Given the description of an element on the screen output the (x, y) to click on. 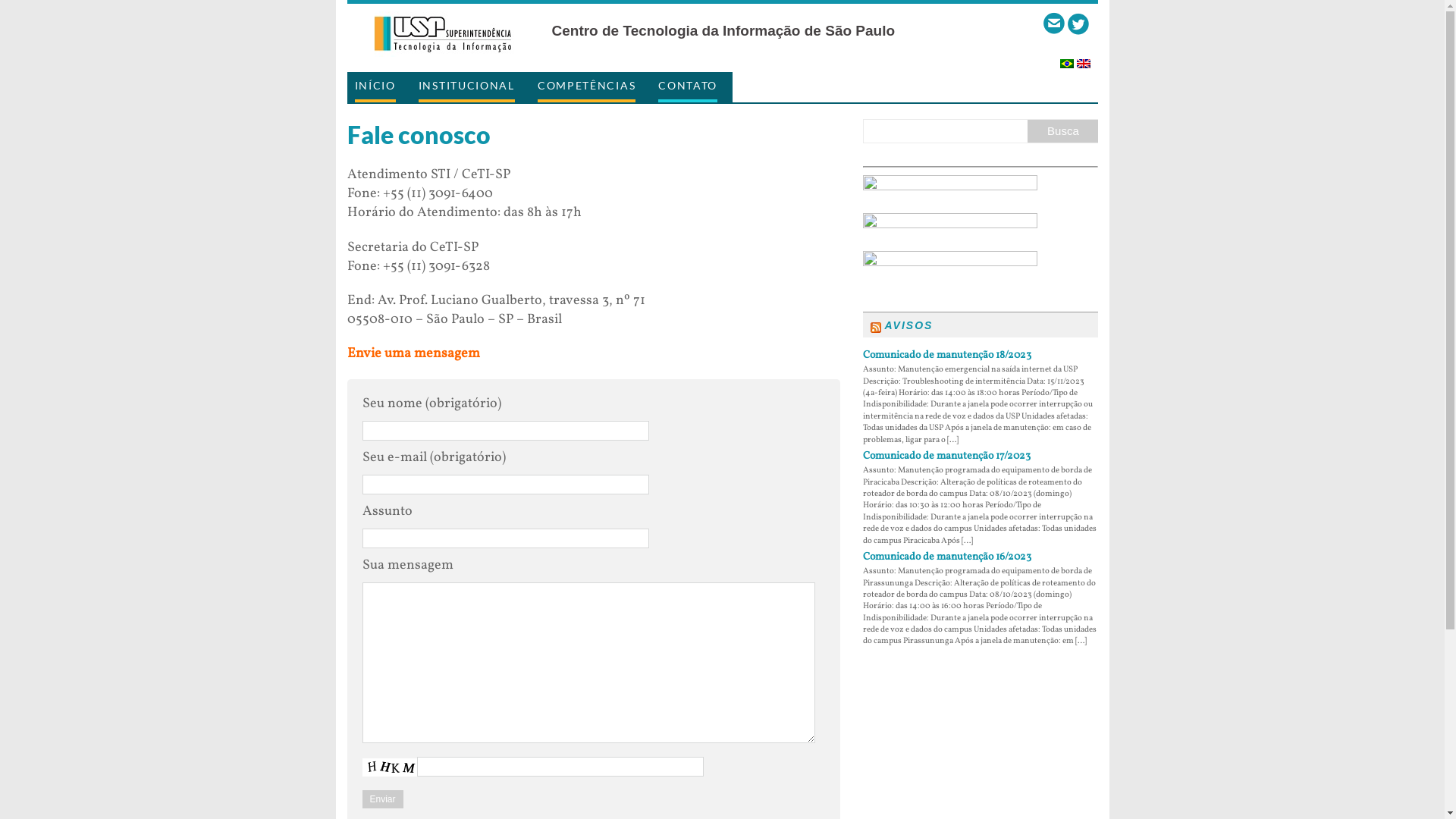
INSTITUCIONAL Element type: text (466, 87)
CONTATO Element type: text (687, 87)
English (en) Element type: hover (1083, 58)
Fale conosco Element type: hover (1053, 23)
AVISOS Element type: text (908, 325)
Enviar Element type: text (382, 799)
Busca Element type: text (1062, 130)
Twitter Element type: hover (1078, 23)
